Given the description of an element on the screen output the (x, y) to click on. 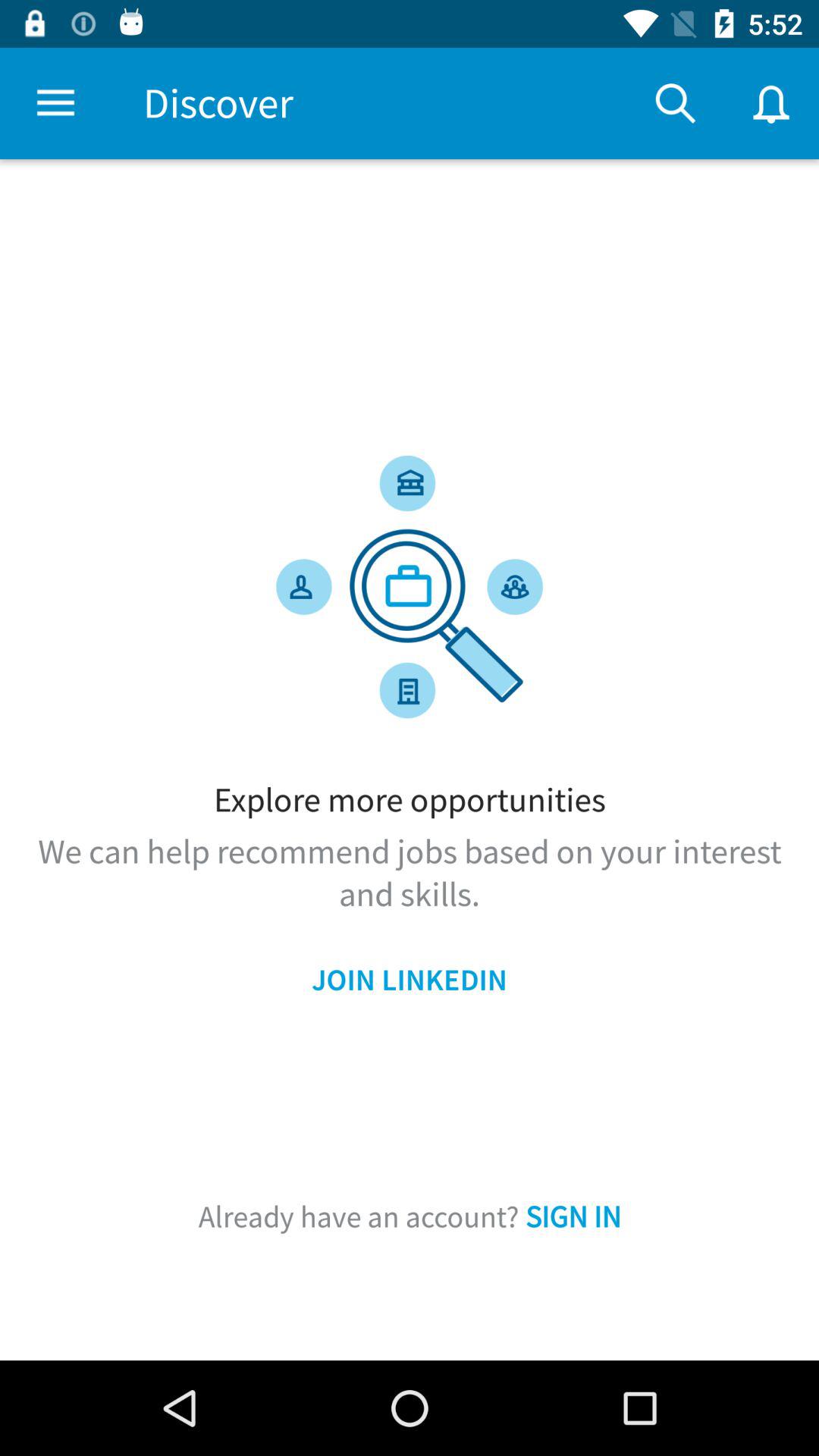
turn off the join linkedin icon (409, 979)
